Given the description of an element on the screen output the (x, y) to click on. 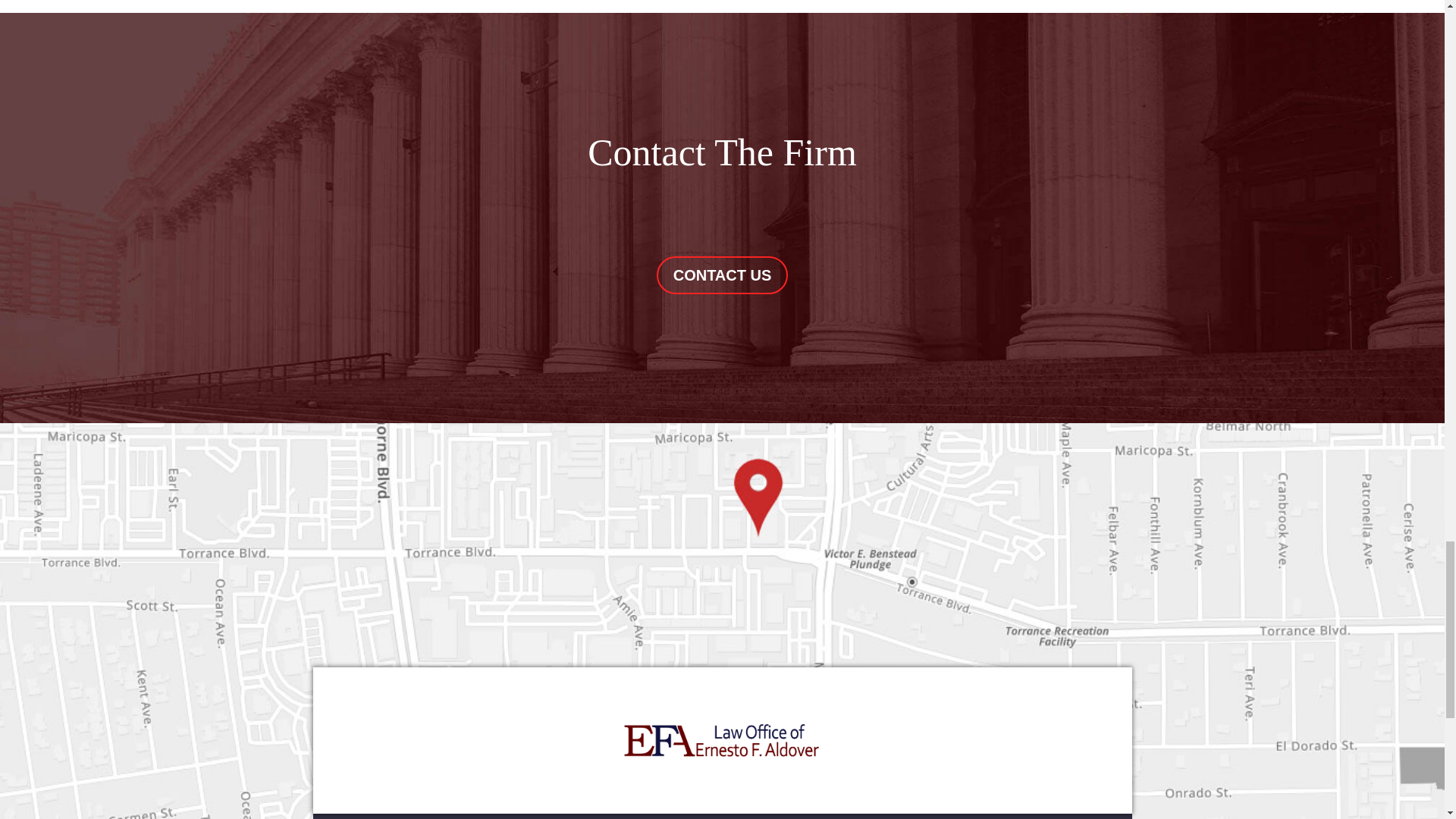
Law-Office-of-Ernesto-F-Aldover (722, 739)
